Given the description of an element on the screen output the (x, y) to click on. 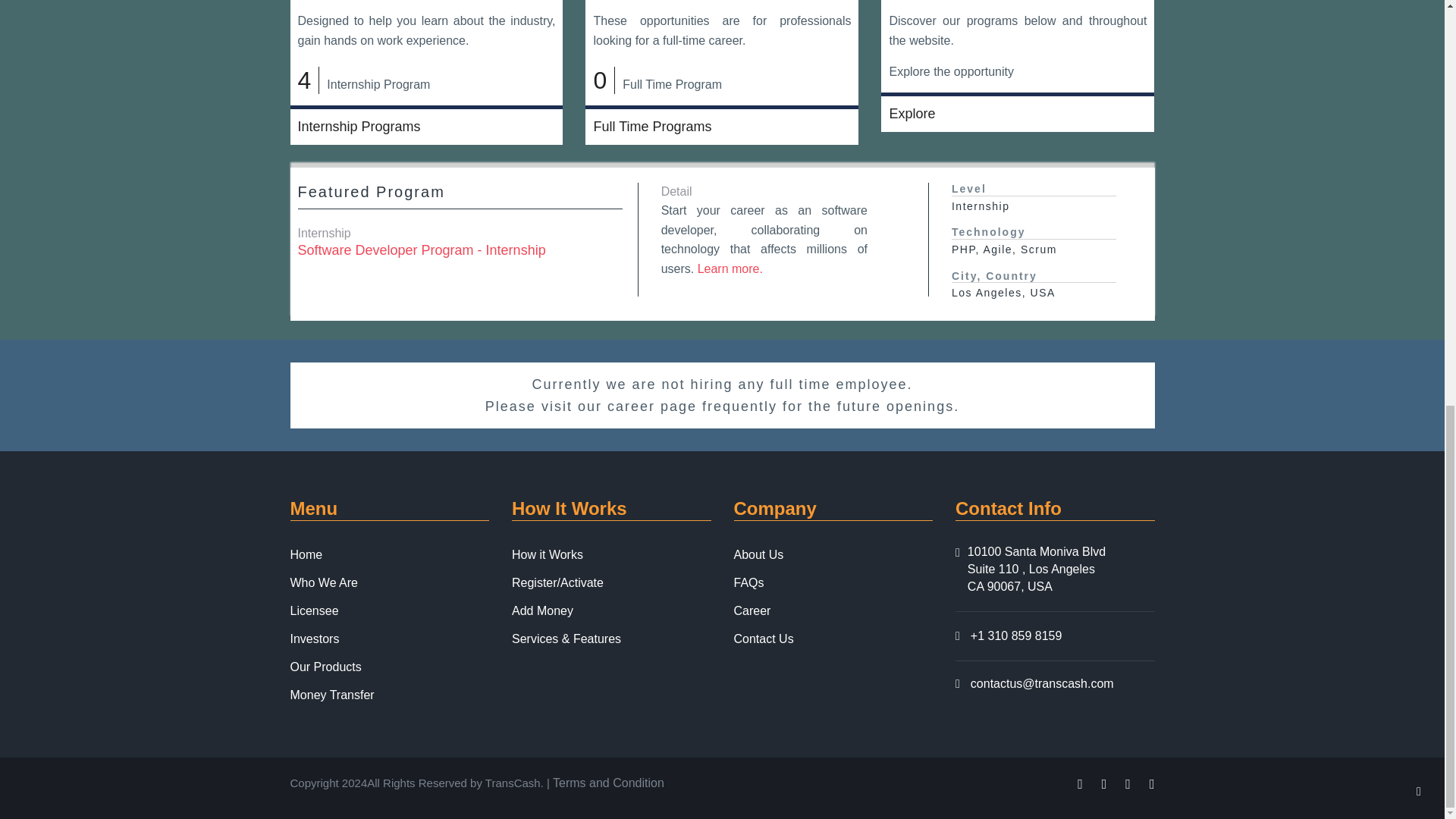
Licensee (313, 609)
How it Works (547, 553)
Home (305, 553)
FAQs (748, 581)
About Us (758, 553)
Our Products (325, 666)
Investors (314, 638)
Who We Are (323, 581)
Add Money (542, 609)
Money Transfer (331, 693)
